Given the description of an element on the screen output the (x, y) to click on. 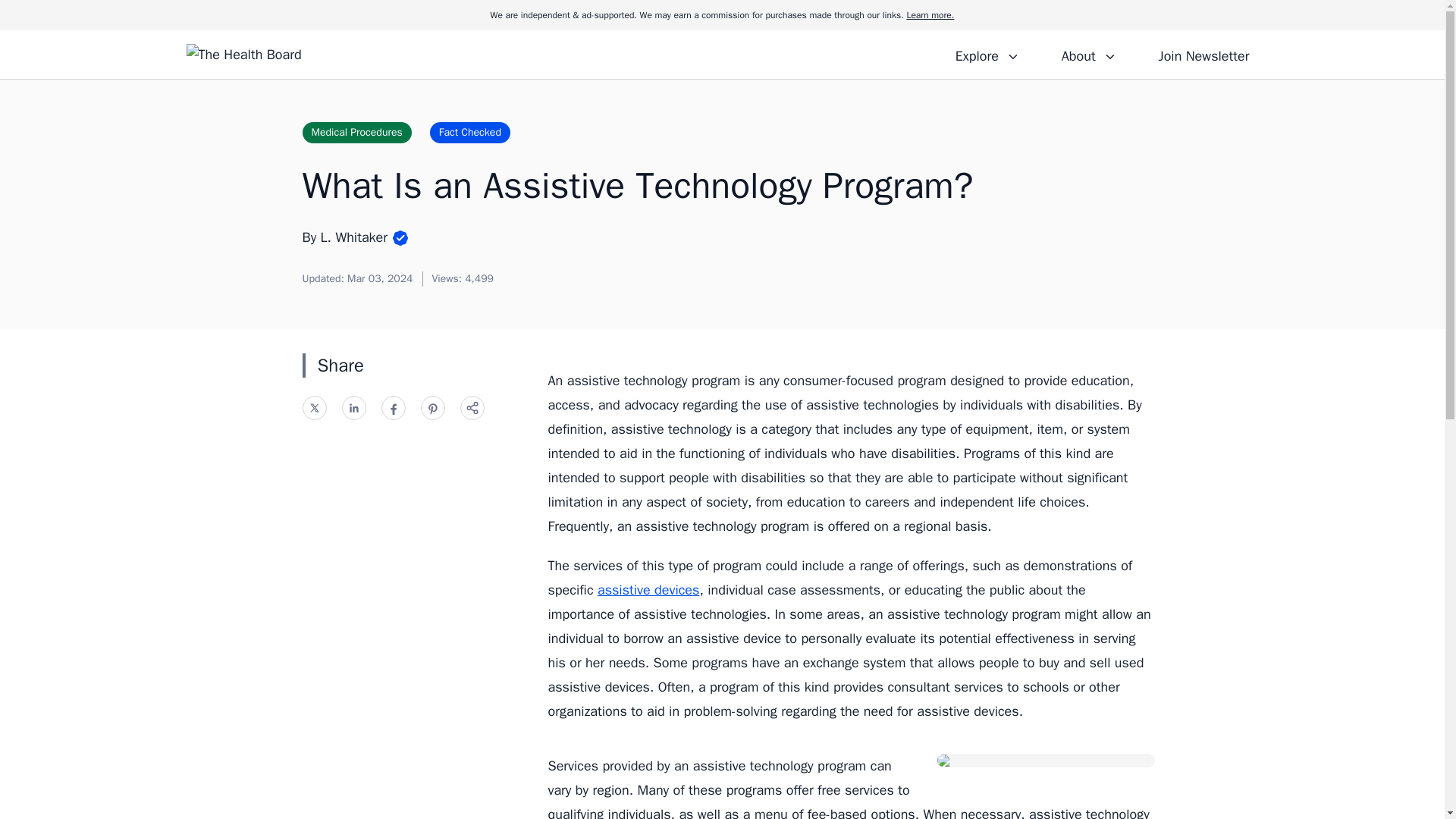
Learn more. (929, 15)
Explore (986, 54)
Fact Checked (470, 132)
About (1088, 54)
Join Newsletter (1202, 54)
Medical Procedures (355, 132)
assistive devices (647, 589)
